Given the description of an element on the screen output the (x, y) to click on. 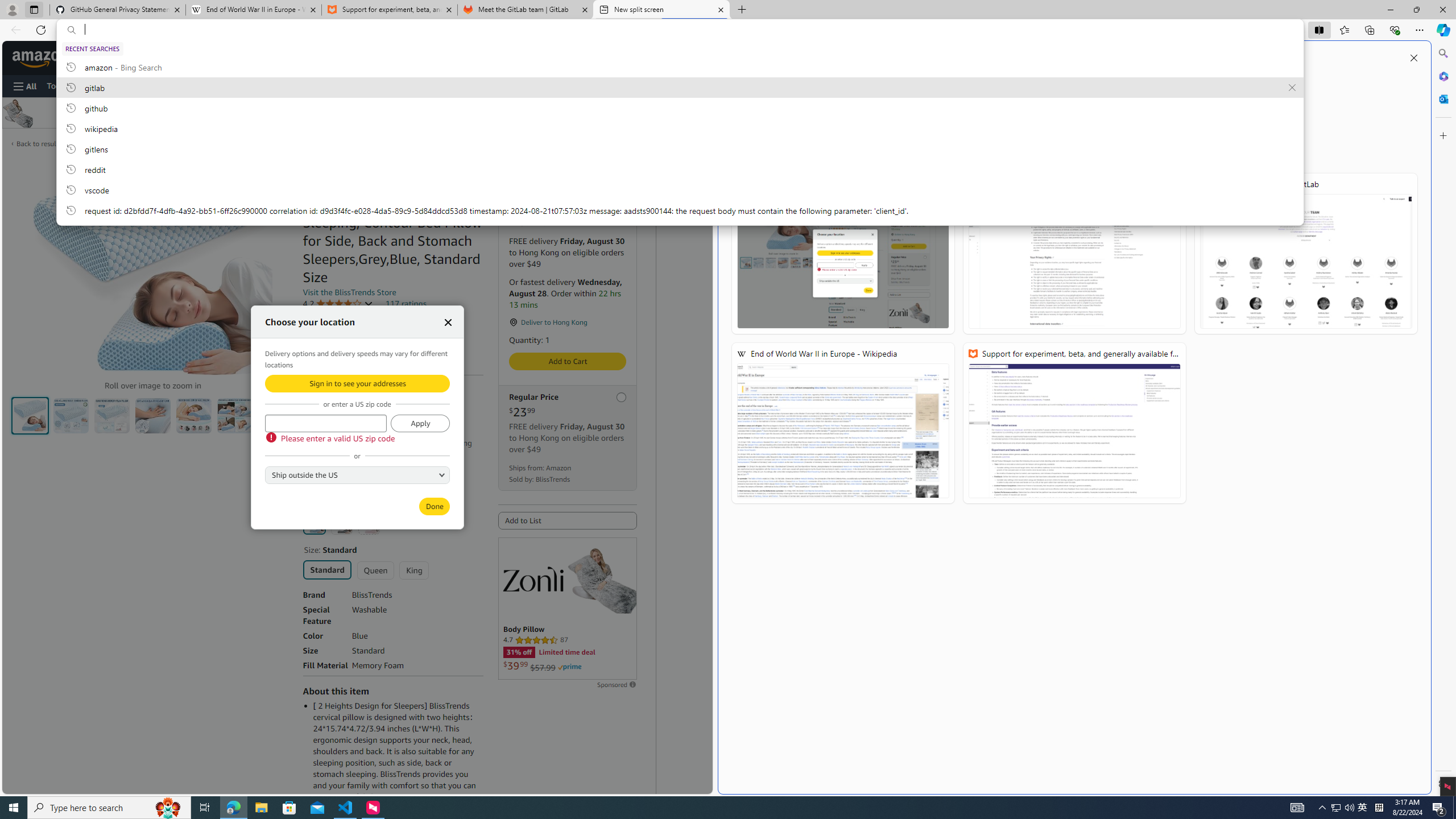
AutomationID: GLUXCountryList (356, 474)
Shop items (327, 481)
Blue (314, 522)
GitHub General Privacy Statement - GitHub Docs (117, 9)
King (414, 570)
Skip to main content (48, 56)
gitlab, recent searches from history (679, 86)
Details  (341, 454)
github, recent searches from history (679, 107)
